Given the description of an element on the screen output the (x, y) to click on. 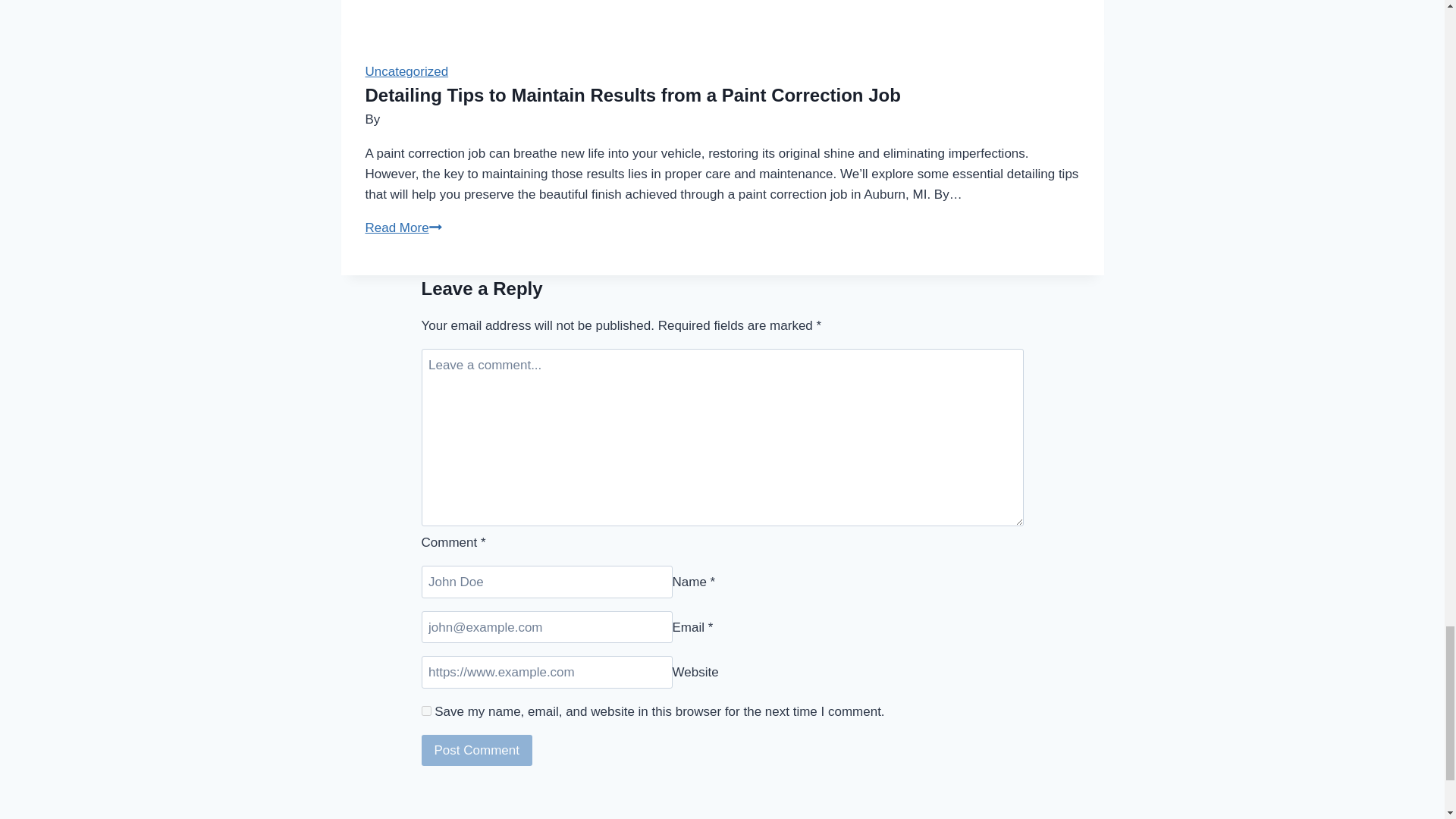
Post Comment (477, 749)
yes (426, 710)
Uncategorized (406, 71)
Post Comment (477, 749)
